Given the description of an element on the screen output the (x, y) to click on. 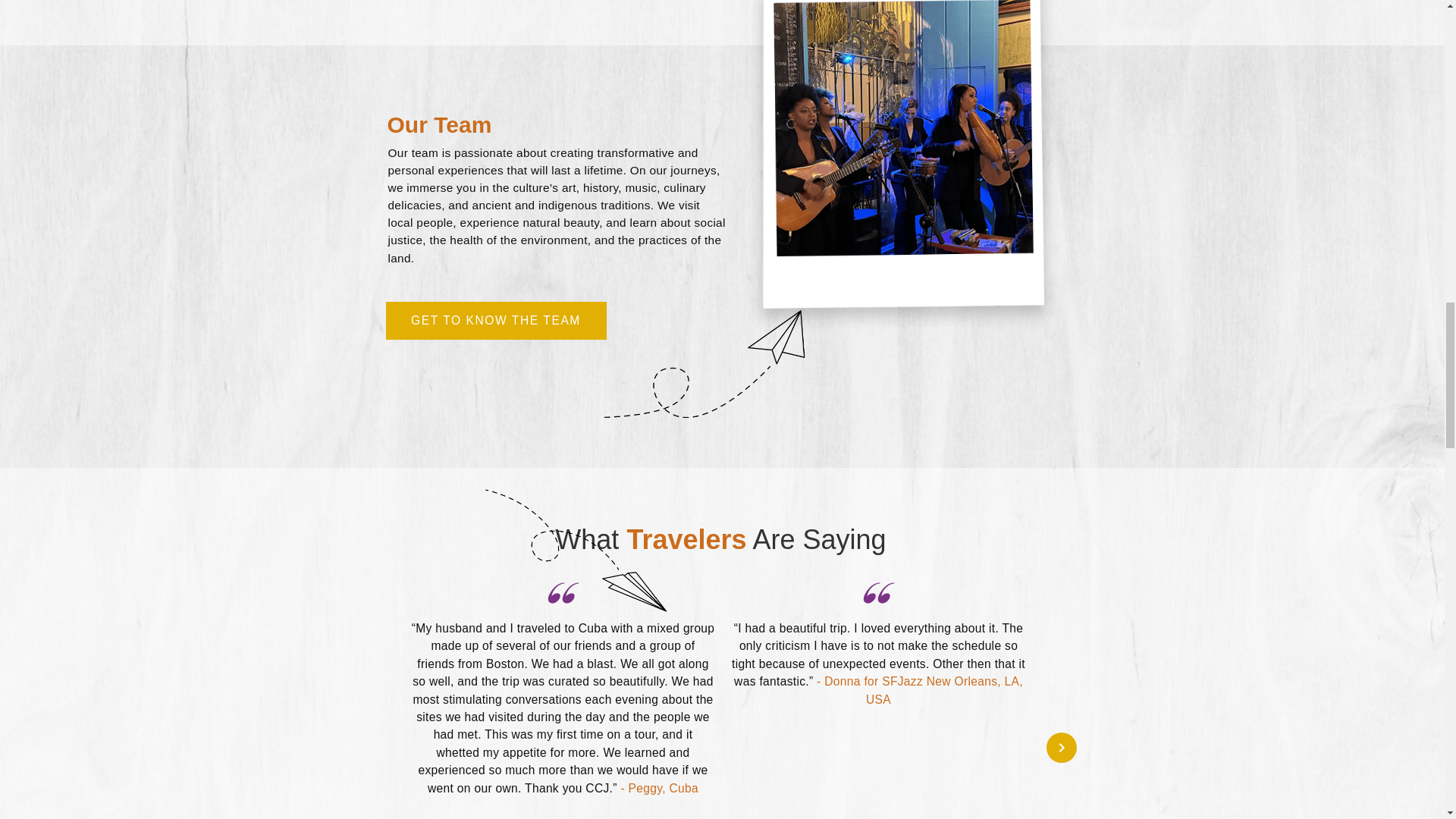
GET TO KNOW THE TEAM (495, 320)
